Given the description of an element on the screen output the (x, y) to click on. 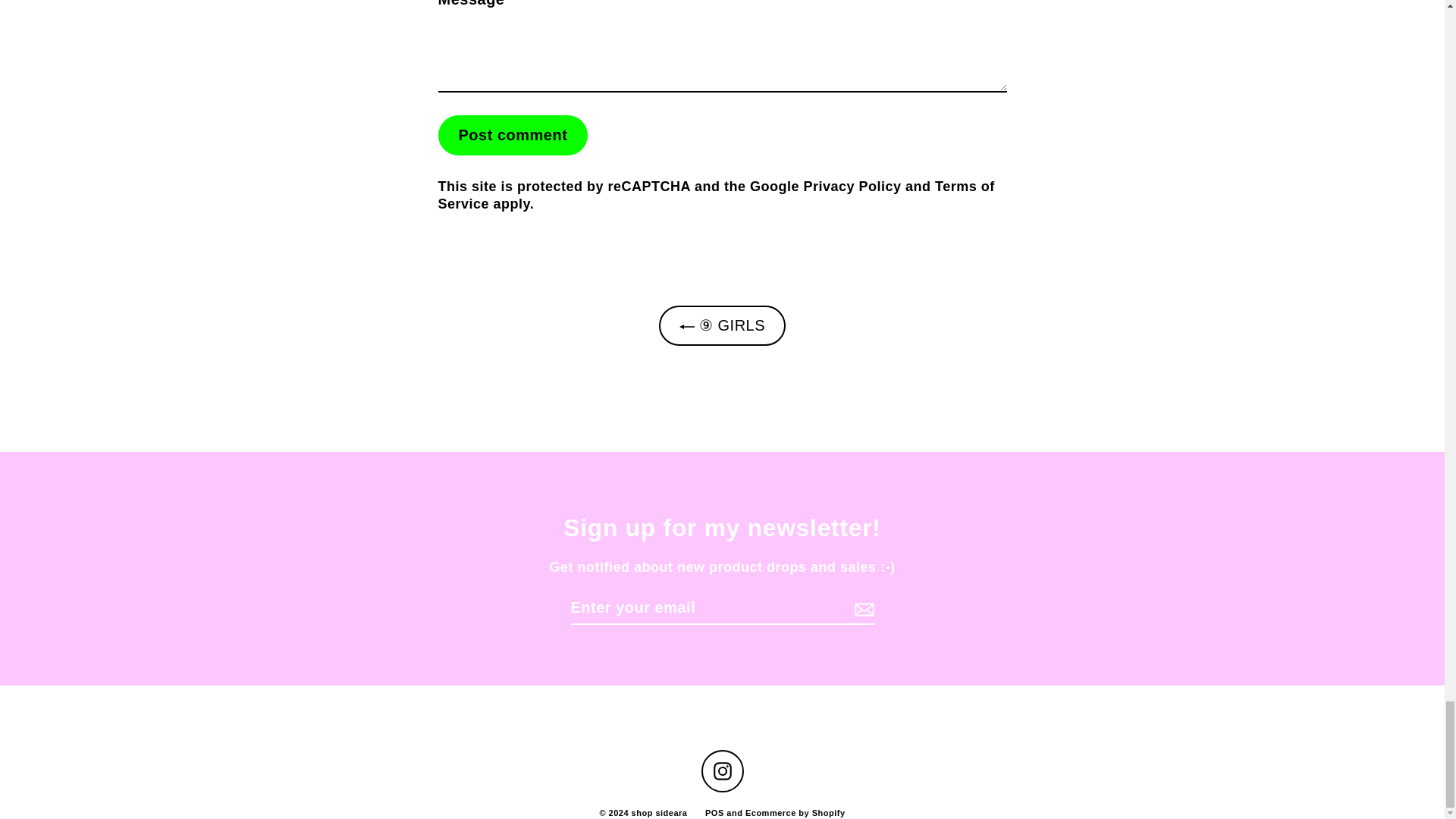
Post comment (513, 134)
shop sideara on Instagram (721, 771)
